Given the description of an element on the screen output the (x, y) to click on. 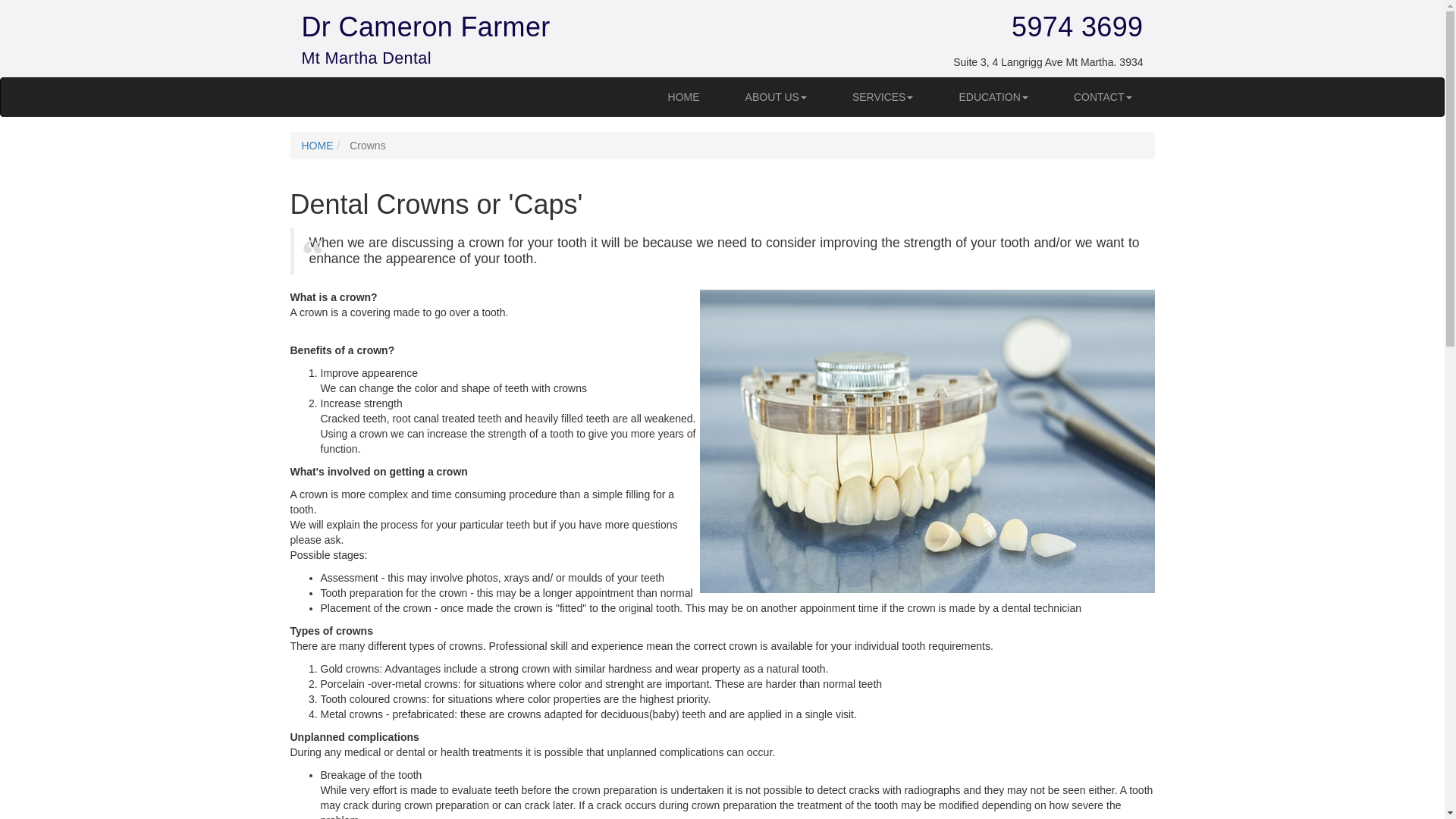
HOME Element type: text (683, 97)
5974 3699 Element type: text (1076, 26)
HOME Element type: text (317, 145)
EDUCATION Element type: text (992, 97)
Dr Cameron Farmer
Mt Martha Dental Element type: text (425, 40)
SERVICES Element type: text (882, 97)
ABOUT US Element type: text (776, 97)
CONTACT Element type: text (1102, 97)
